Given the description of an element on the screen output the (x, y) to click on. 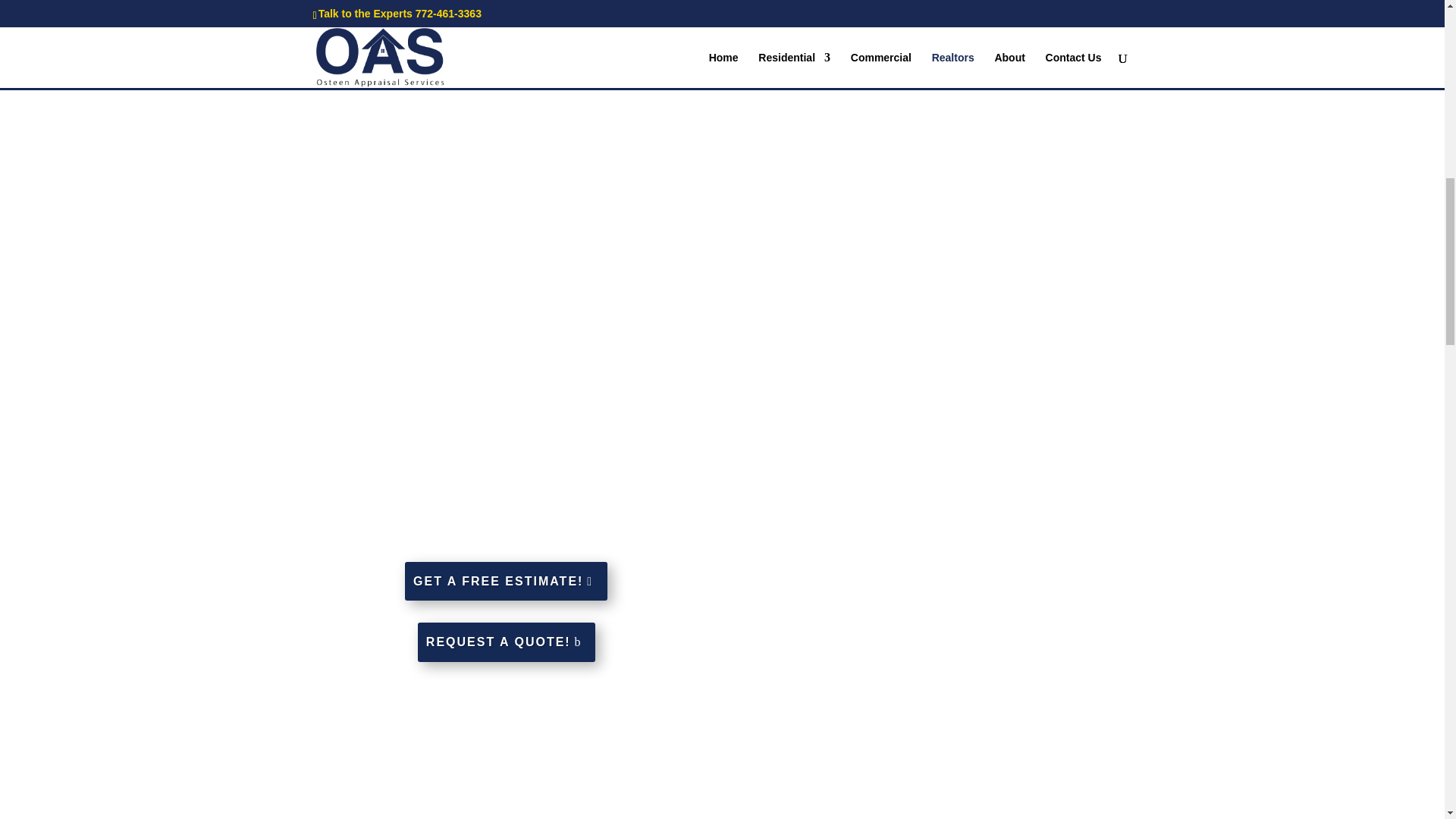
GET A FREE ESTIMATE! (505, 580)
GET A FREE QUOTE (938, 14)
GET A FREE QUOTE (505, 14)
REQUEST A QUOTE! (506, 641)
